Given the description of an element on the screen output the (x, y) to click on. 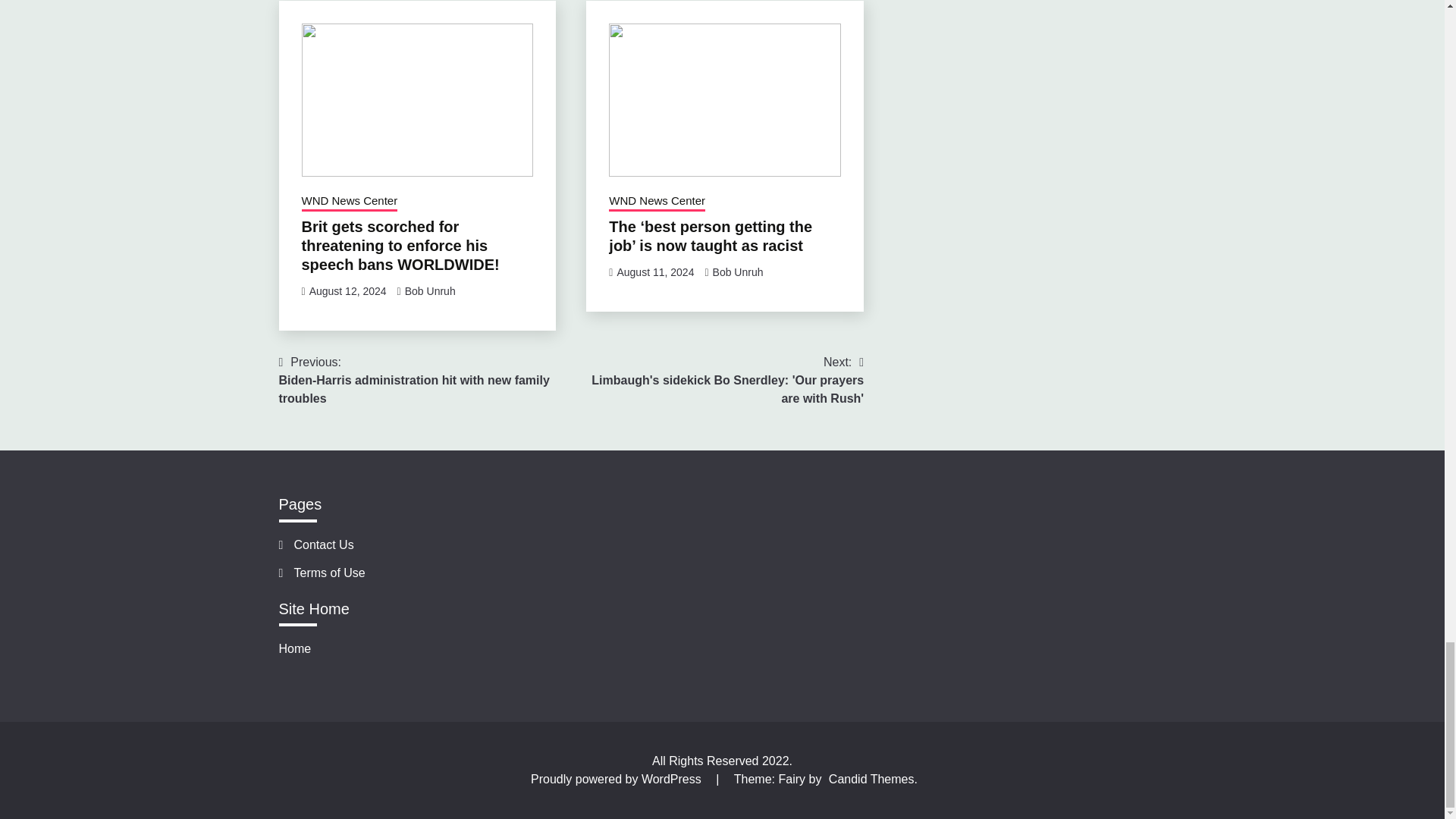
August 12, 2024 (347, 291)
WND News Center (656, 202)
August 11, 2024 (654, 272)
Bob Unruh (429, 291)
WND News Center (349, 202)
Bob Unruh (737, 272)
